Given the description of an element on the screen output the (x, y) to click on. 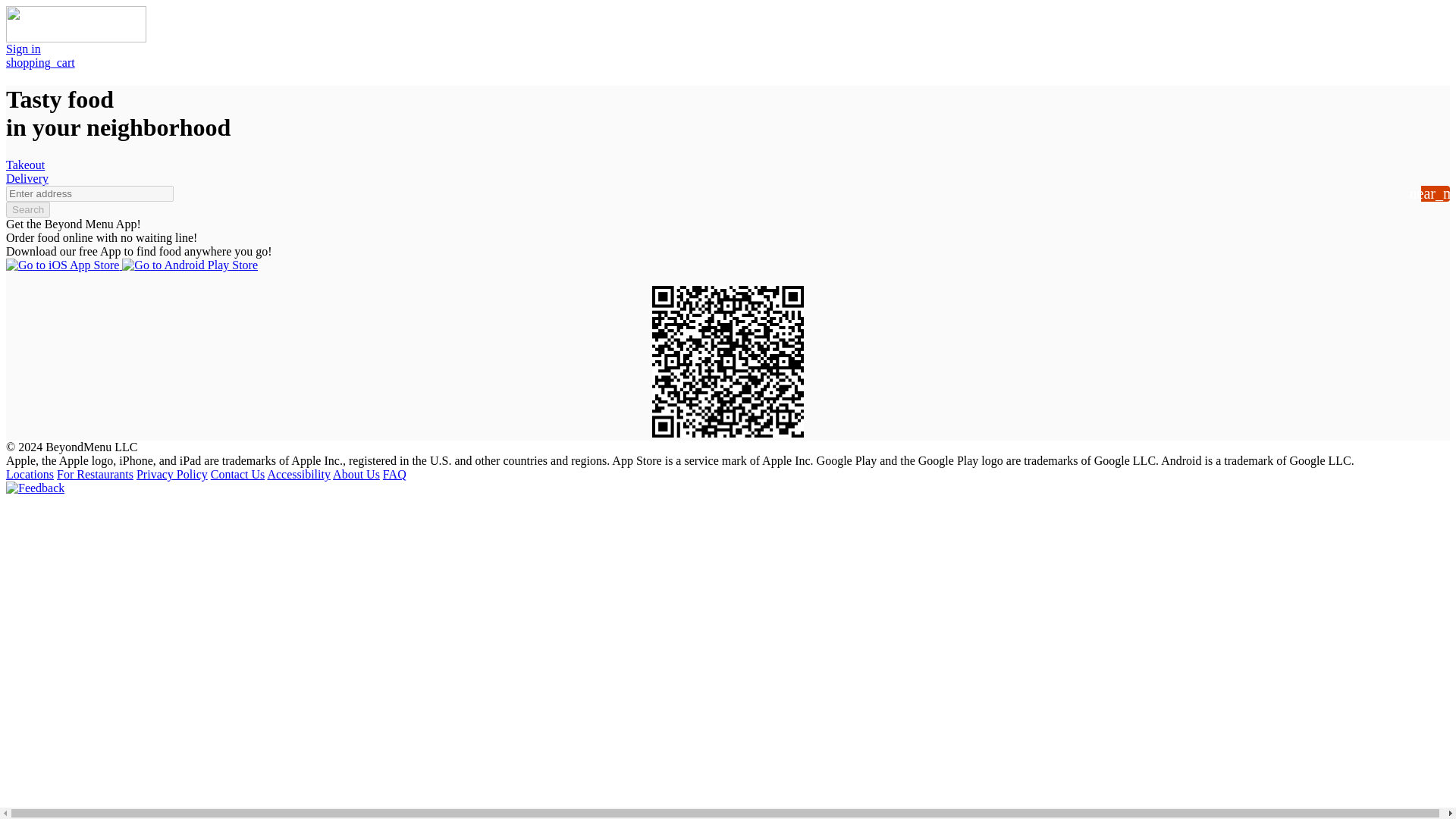
For Restaurants (94, 473)
Accessibility (298, 473)
Sign in (22, 48)
About Us (356, 473)
Contact Us (237, 473)
Search (27, 209)
Takeout (25, 164)
Delivery (26, 178)
Locations (29, 473)
Privacy Policy (172, 473)
FAQ (394, 473)
